Given the description of an element on the screen output the (x, y) to click on. 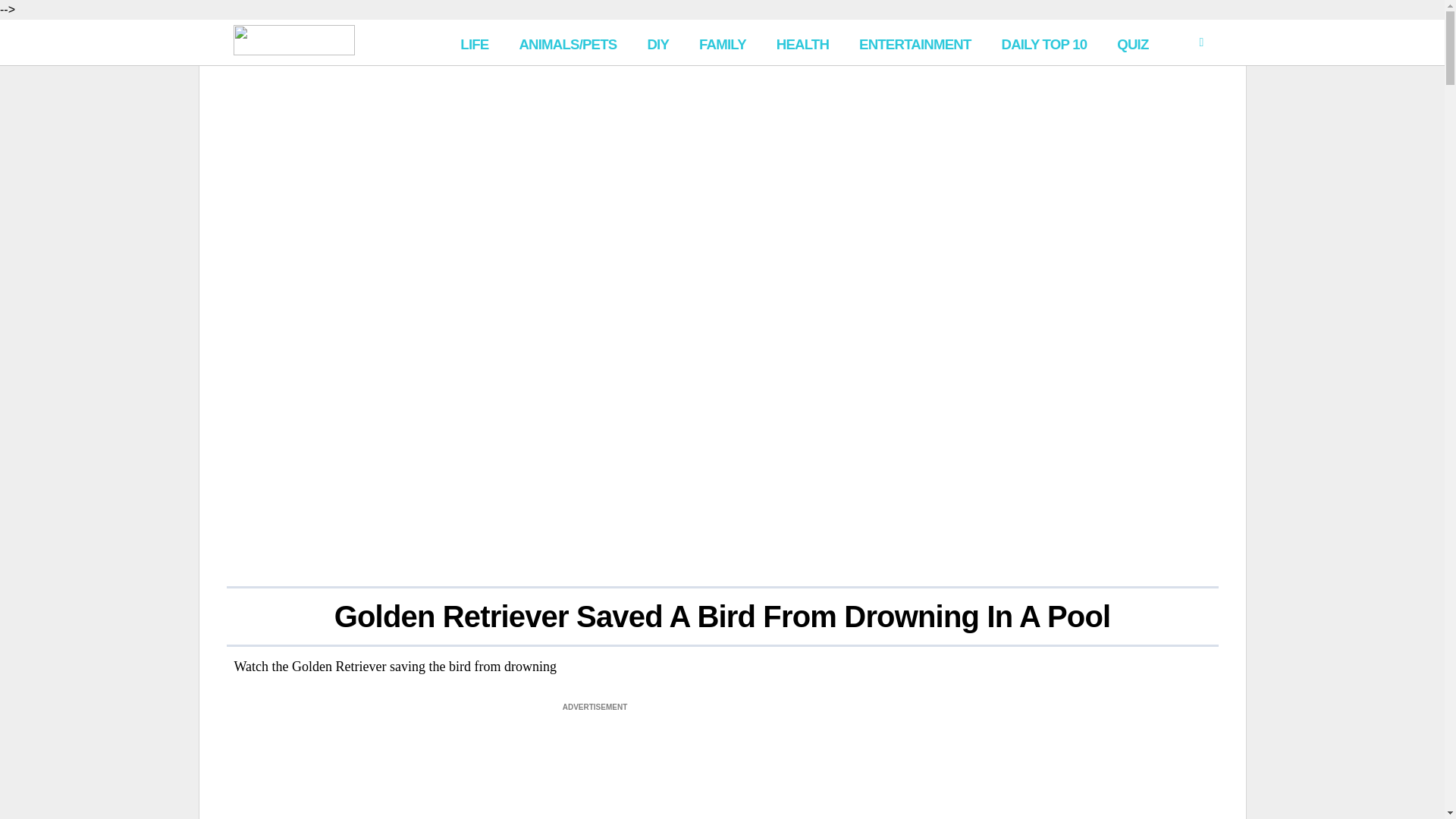
HEALTH (801, 42)
ENTERTAINMENT (914, 42)
QUIZ (1132, 42)
FAMILY (722, 42)
LIFE (474, 42)
DAILY TOP 10 (1043, 42)
